Given the description of an element on the screen output the (x, y) to click on. 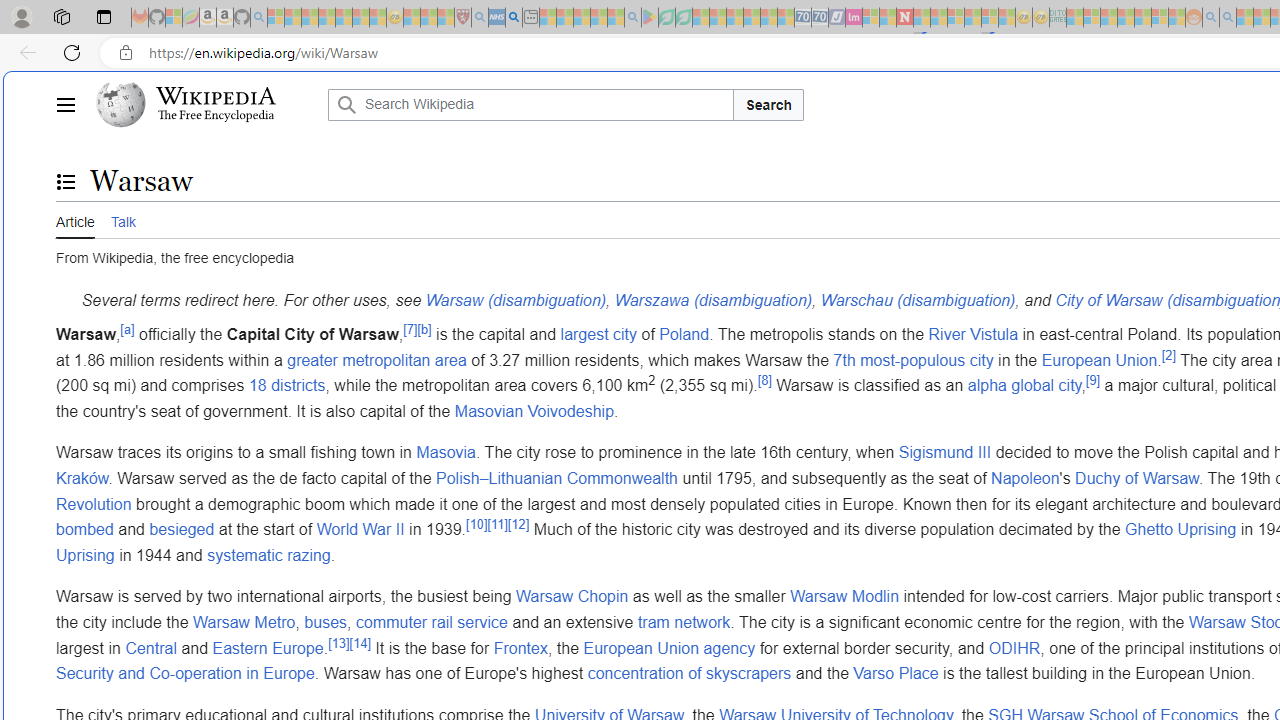
River Vistula (973, 333)
The Free Encyclopedia (216, 116)
concentration of skyscrapers (689, 674)
Warsaw Modlin (844, 597)
